Given the description of an element on the screen output the (x, y) to click on. 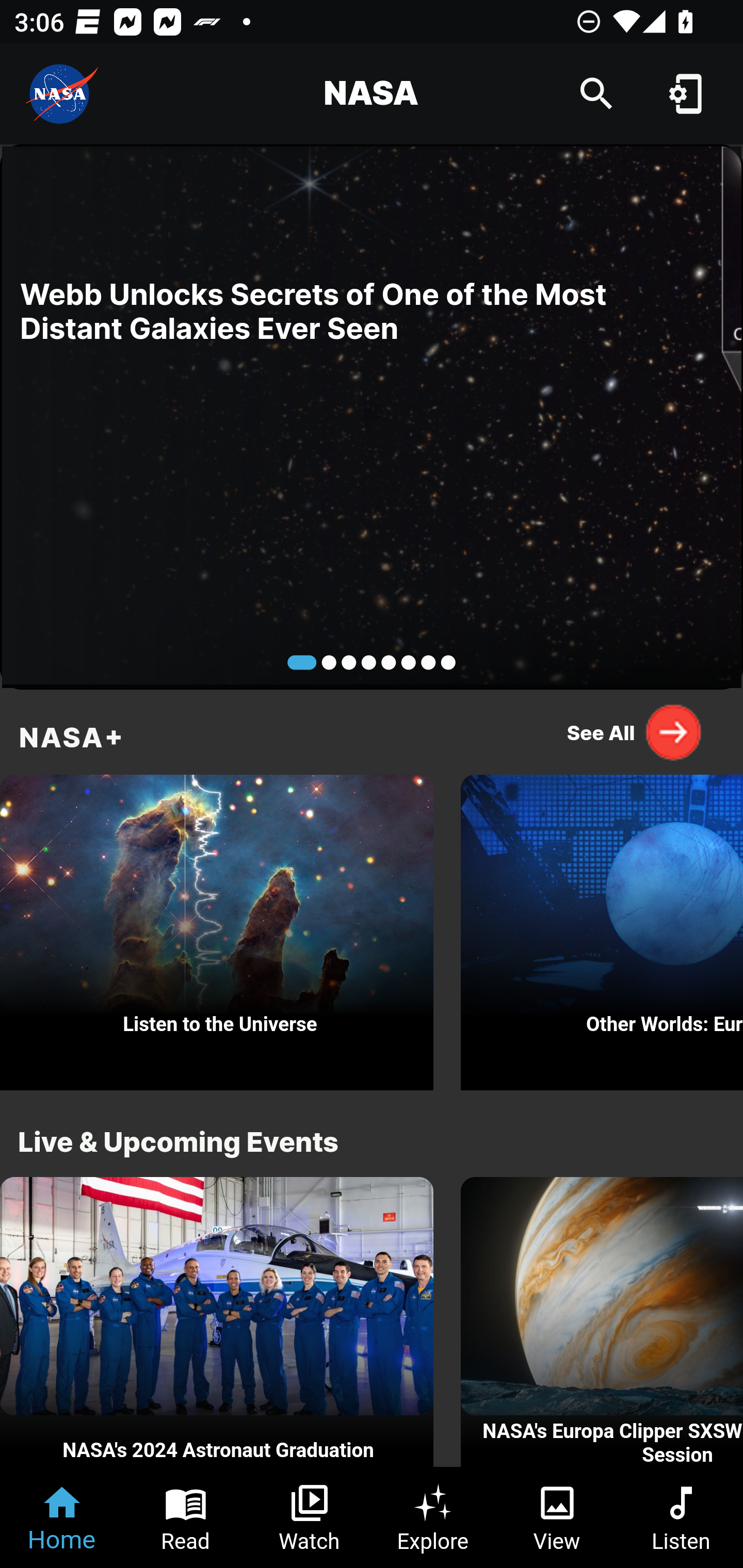
See All (634, 732)
Listen to the Universe (216, 927)
Other Worlds: Europa (601, 927)
NASA's 2024 Astronaut Graduation (216, 1322)
NASA's Europa Clipper SXSW 2024 Opening Session (601, 1322)
Home
Tab 1 of 6 (62, 1517)
Read
Tab 2 of 6 (185, 1517)
Watch
Tab 3 of 6 (309, 1517)
Explore
Tab 4 of 6 (433, 1517)
View
Tab 5 of 6 (556, 1517)
Listen
Tab 6 of 6 (680, 1517)
